Given the description of an element on the screen output the (x, y) to click on. 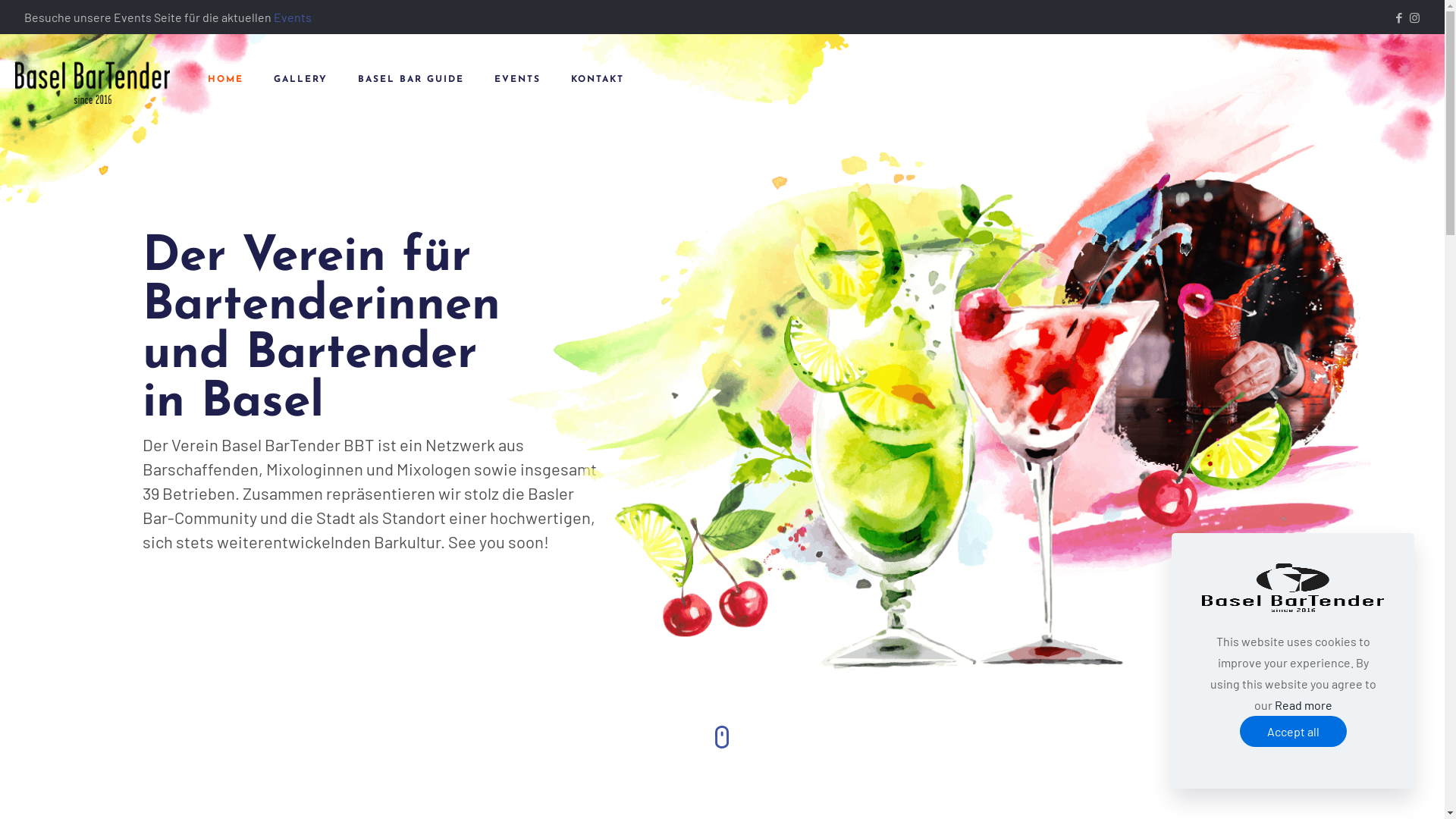
Instagram Element type: hover (1414, 17)
GALLERY Element type: text (300, 79)
Facebook Element type: hover (1398, 17)
Read more Element type: text (1302, 704)
EVENTS Element type: text (517, 79)
HOME Element type: text (225, 79)
KONTAKT Element type: text (597, 79)
Accept all Element type: text (1292, 730)
Events Element type: text (292, 16)
Basel BarTender Element type: hover (92, 79)
BASEL BAR GUIDE Element type: text (410, 79)
